Given the description of an element on the screen output the (x, y) to click on. 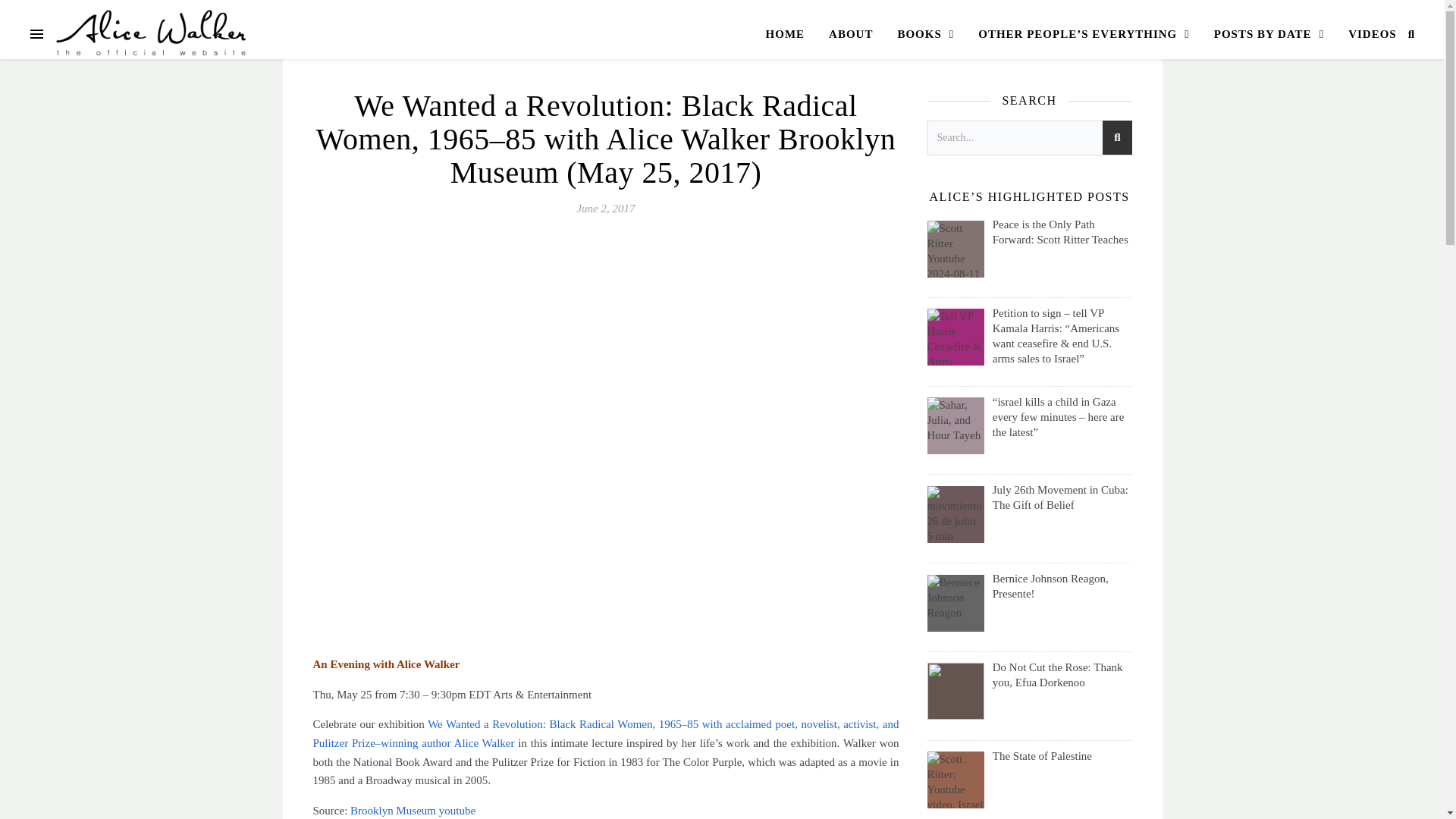
About Alice Walker (850, 33)
ABOUT (850, 33)
Books (925, 33)
HOME (790, 33)
BOOKS (925, 33)
